Given the description of an element on the screen output the (x, y) to click on. 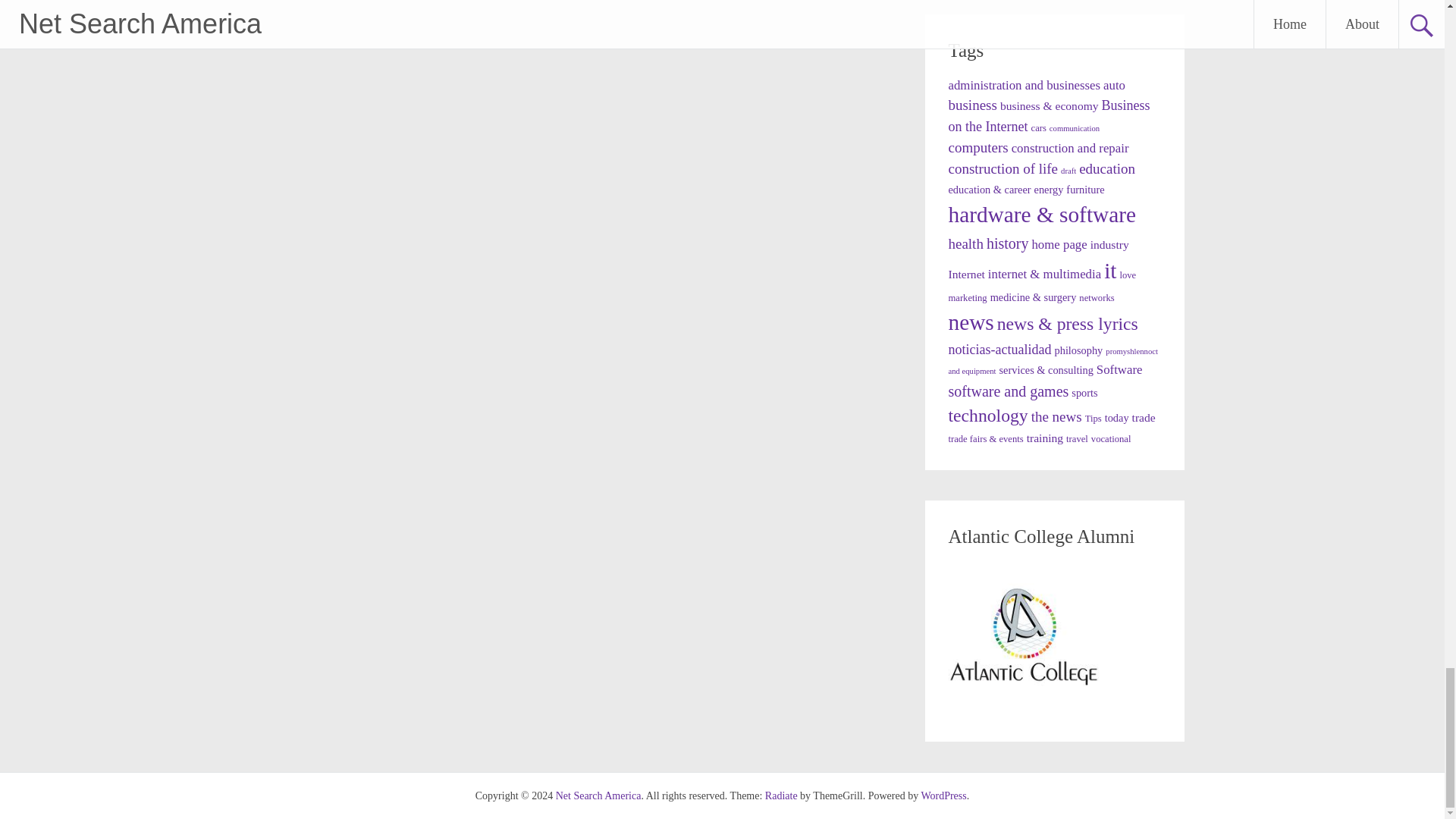
WordPress (943, 795)
Radiate (781, 795)
Net Search America (599, 795)
